Given the description of an element on the screen output the (x, y) to click on. 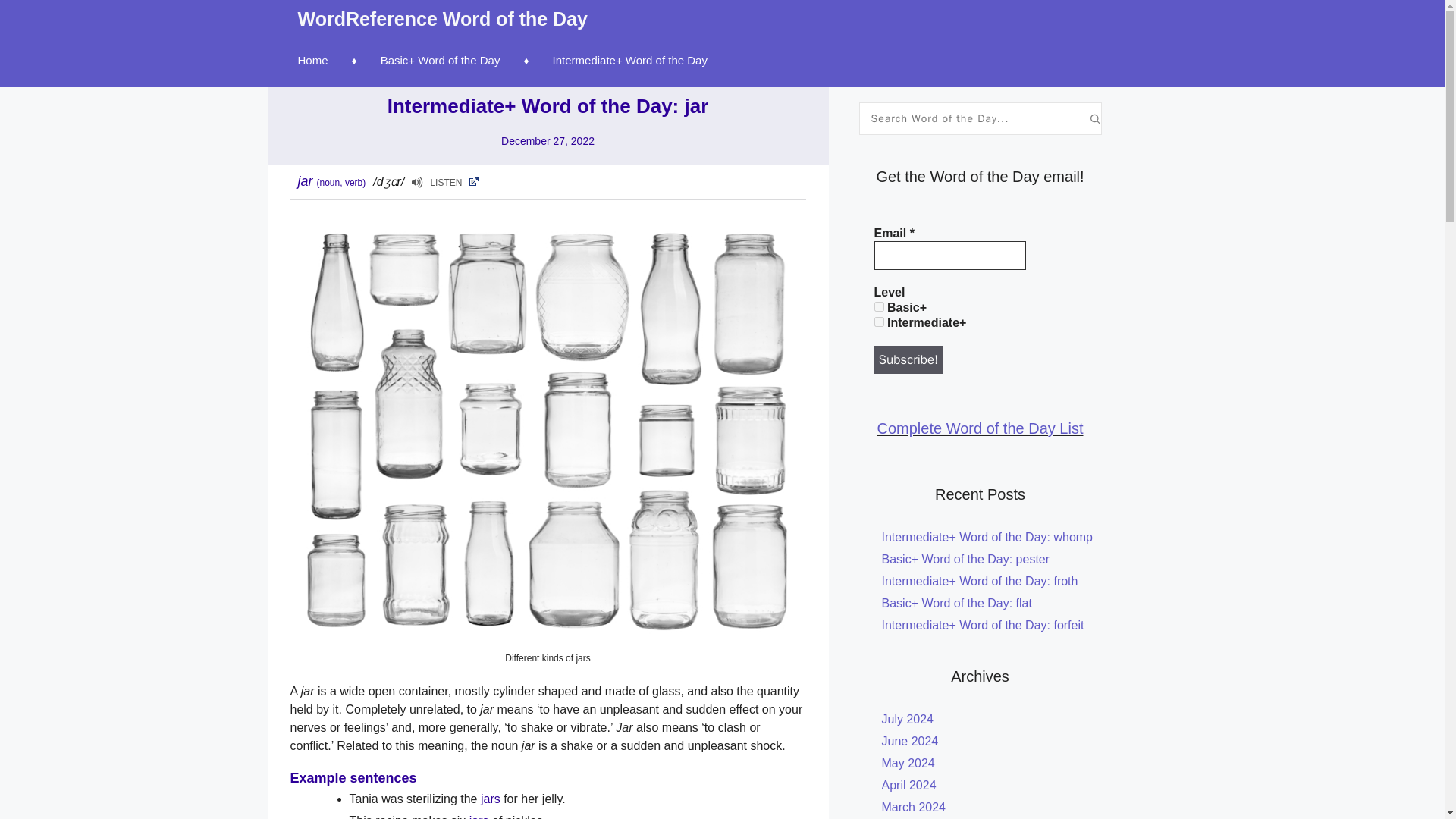
Search for: (974, 118)
WordReference Word of the Day (441, 18)
3 (878, 321)
Home (334, 60)
Subscribe! (907, 359)
4 (878, 307)
Email (949, 255)
LISTEN (445, 181)
